Given the description of an element on the screen output the (x, y) to click on. 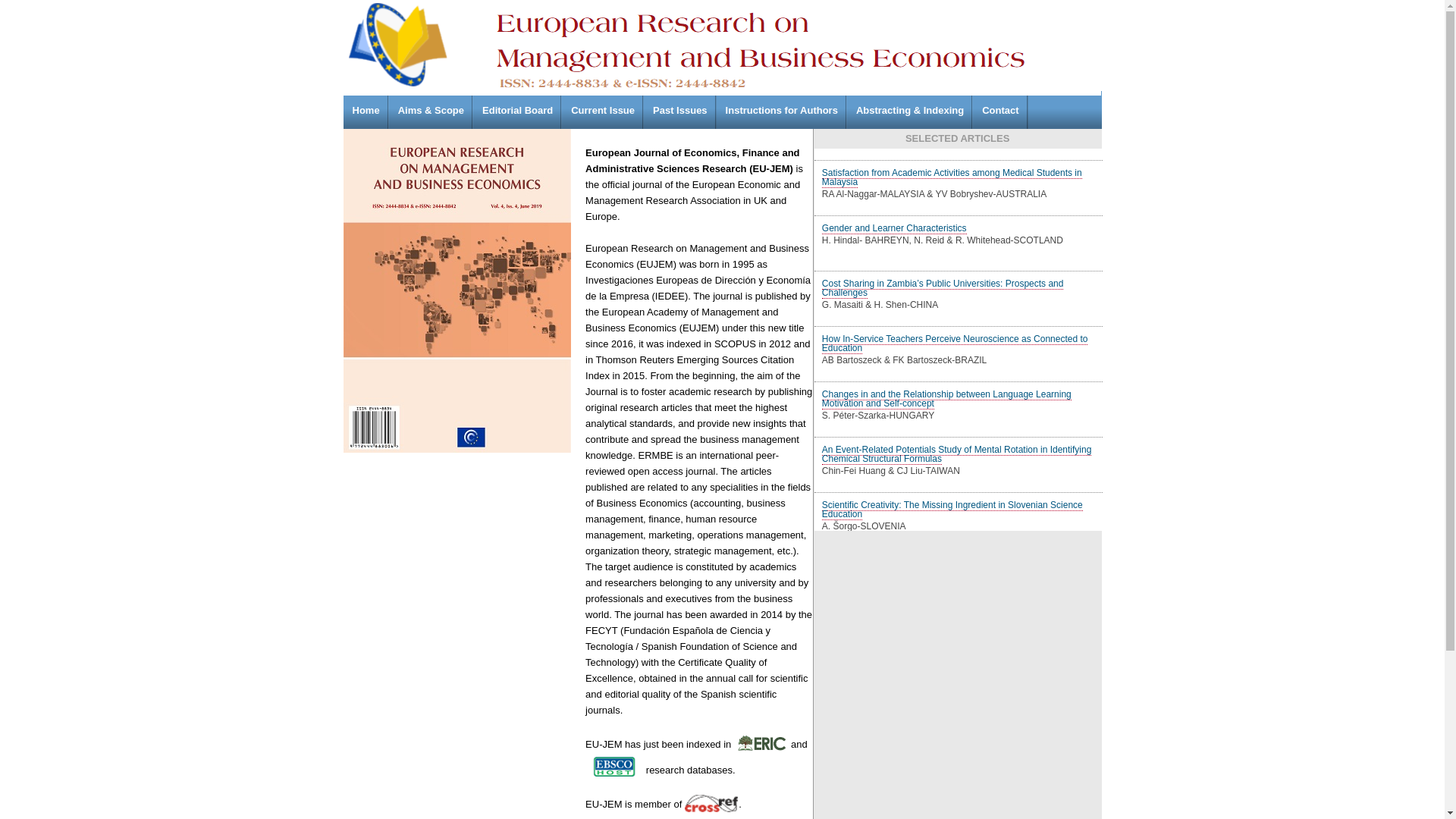
Past Issues Element type: text (679, 109)
Classroom Management and Loss of Time at the Lesson Start Element type: text (947, 267)
Instructions for Authors Element type: text (781, 109)
Abstracting & Indexing Element type: text (909, 109)
Home Element type: text (365, 109)
Gender and Learner Characteristics Element type: text (894, 485)
Contact Element type: text (999, 109)
Aims & Scope Element type: text (431, 109)
Pre-Vocational Education in Seven European Countries Element type: text (933, 159)
Current Issue Element type: text (602, 109)
The Beneficial Effects of Non-received Choice Element type: text (914, 322)
Editorial Board Element type: text (517, 109)
